Given the description of an element on the screen output the (x, y) to click on. 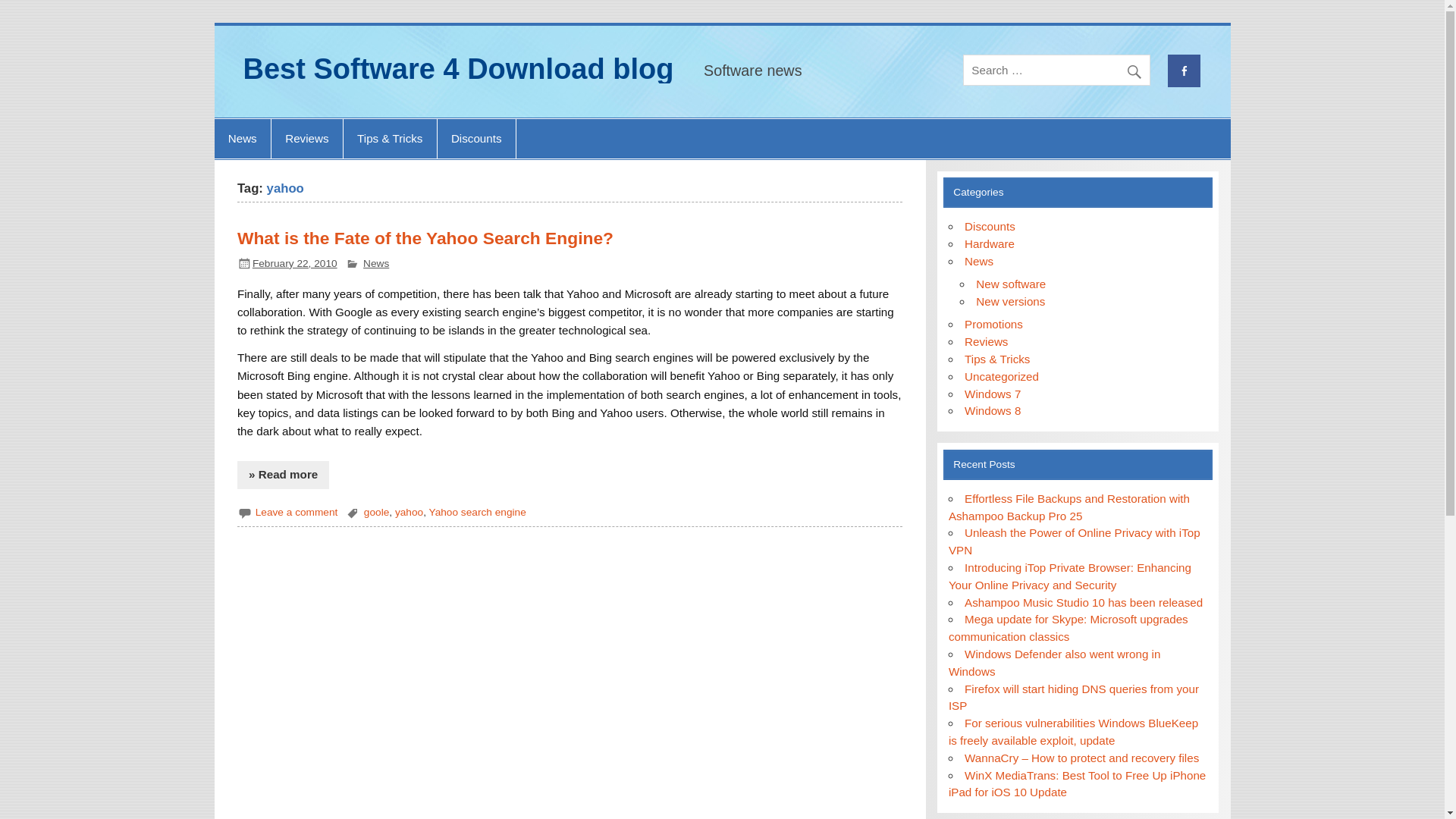
Windows 8 (991, 410)
New software (1010, 283)
Windows 7 (991, 392)
yahoo (408, 511)
News (241, 138)
Hardware (988, 243)
Uncategorized (1001, 376)
Discounts (988, 226)
News (375, 263)
